Given the description of an element on the screen output the (x, y) to click on. 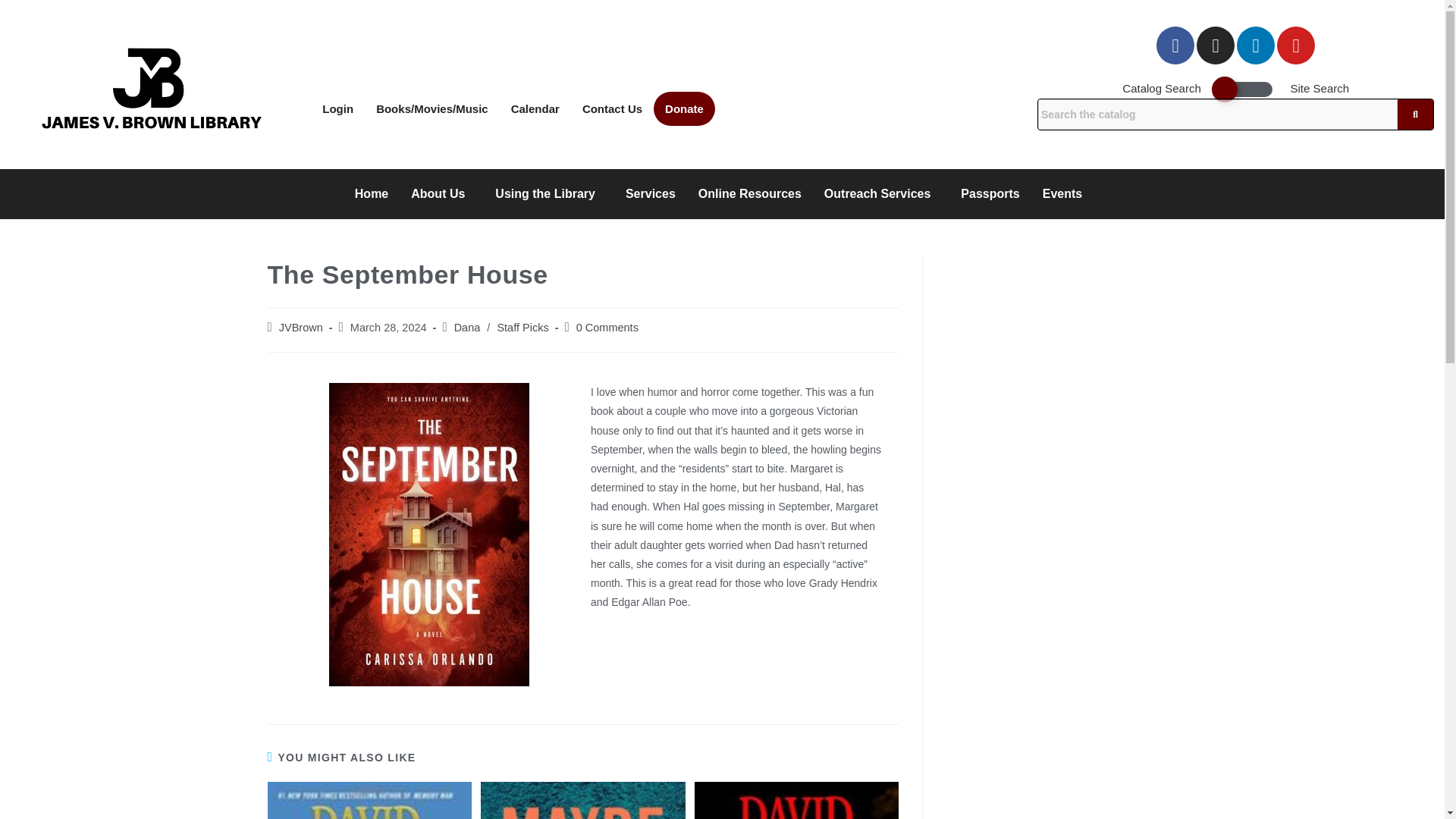
Contact Us (611, 108)
Donate (683, 108)
Calendar (534, 108)
Login (338, 108)
Using the Library (548, 193)
About Us (440, 193)
Home (370, 193)
Posts by JVBrown (301, 327)
Search (1217, 114)
